Given the description of an element on the screen output the (x, y) to click on. 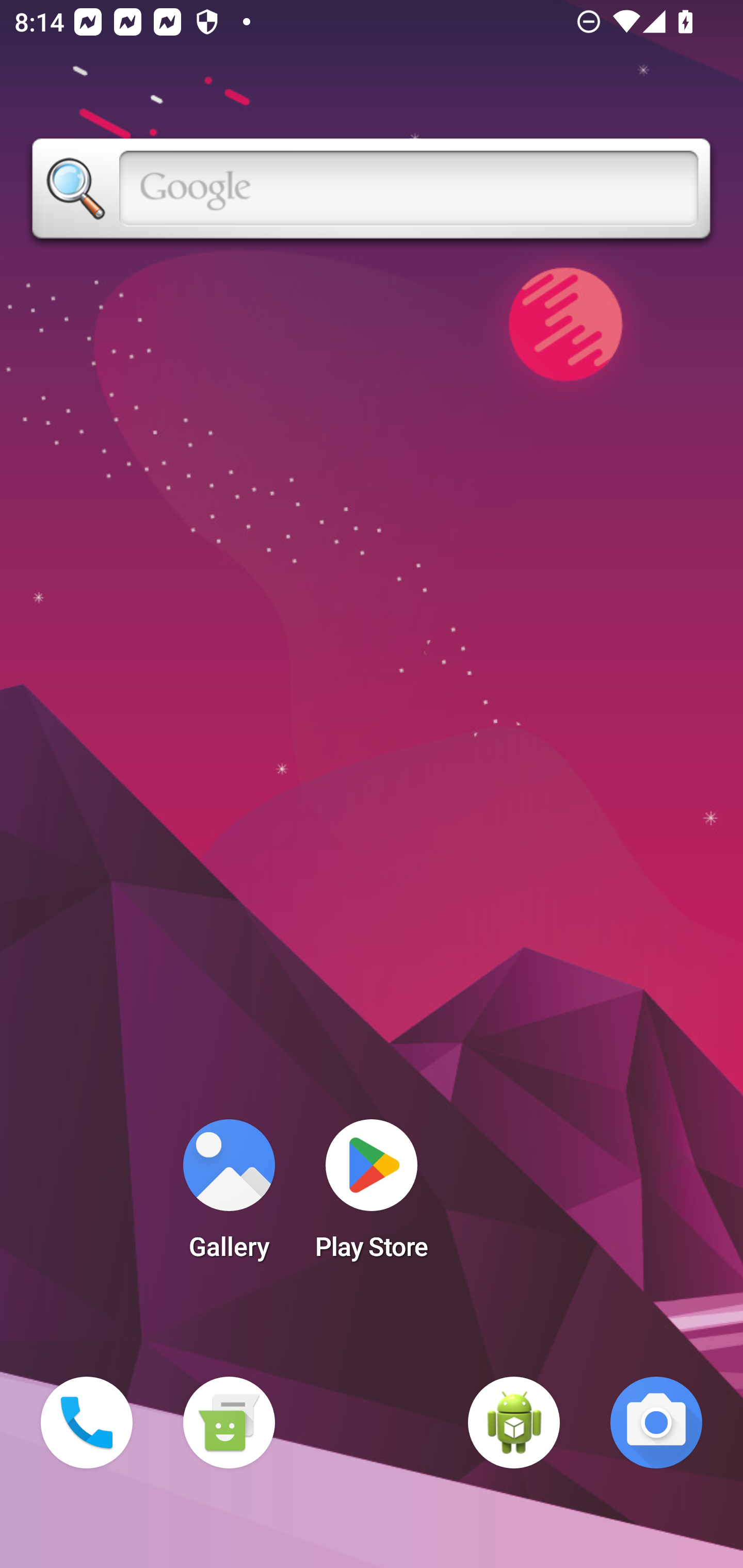
Gallery (228, 1195)
Play Store (371, 1195)
Phone (86, 1422)
Messaging (228, 1422)
WebView Browser Tester (513, 1422)
Camera (656, 1422)
